Given the description of an element on the screen output the (x, y) to click on. 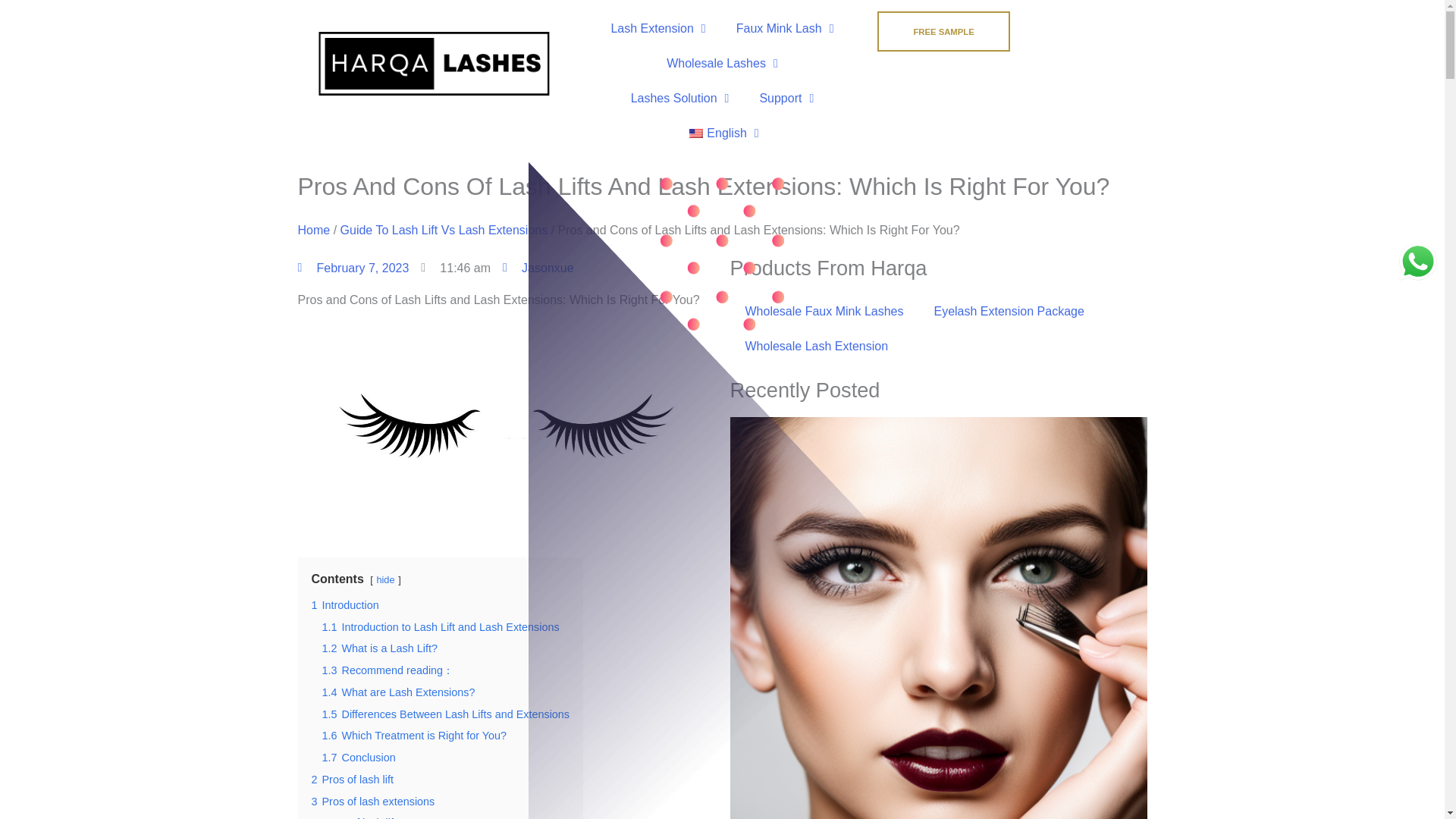
English (695, 133)
Support (786, 98)
Lash Extension (657, 28)
Lashes Solution (679, 98)
Faux Mink Lash (784, 28)
Wholesale Lashes (721, 63)
